Given the description of an element on the screen output the (x, y) to click on. 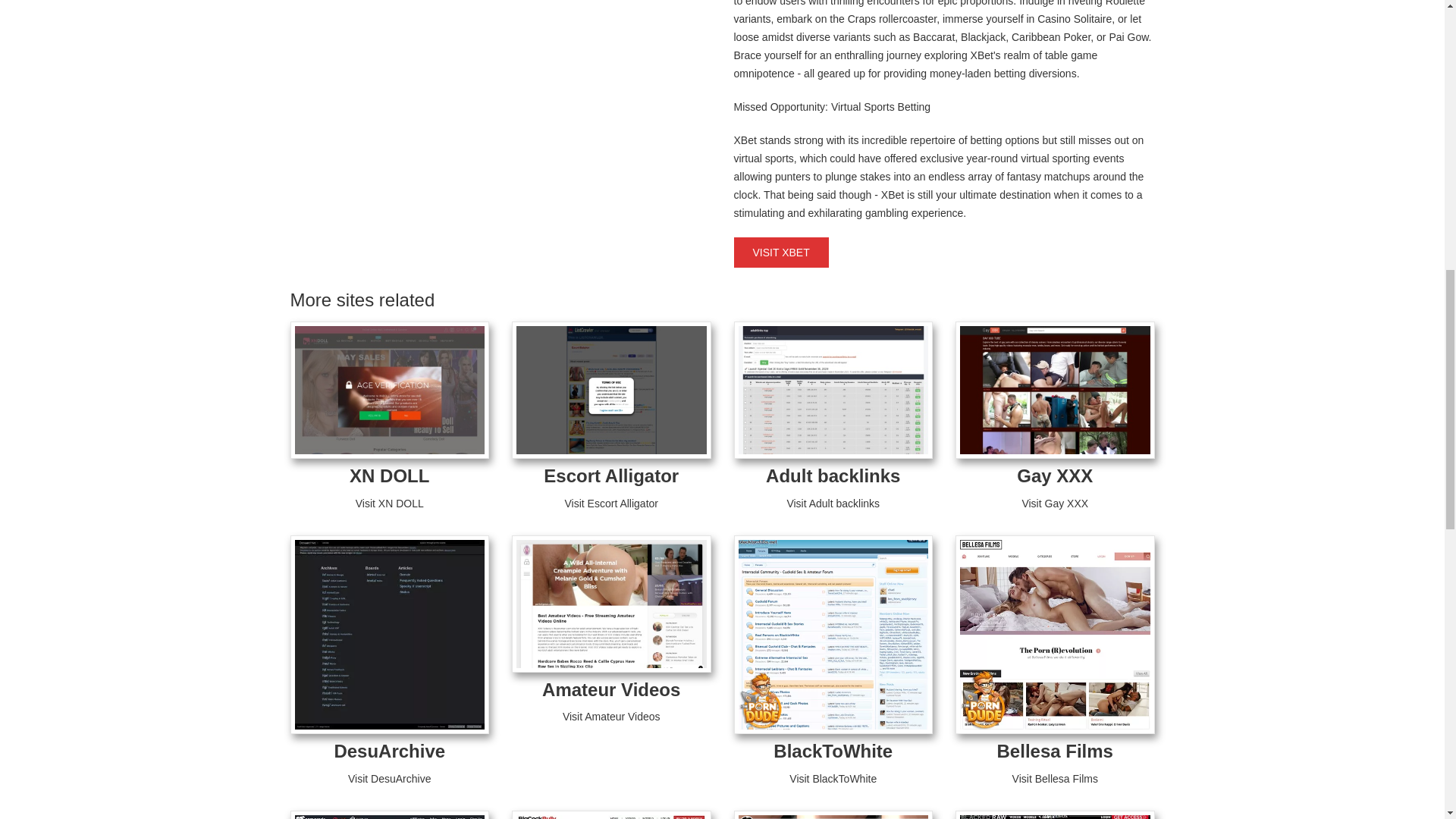
Visit Adult backlinks (832, 503)
Gay XXX (1054, 476)
Visit Amateur Videos (611, 716)
Visit XN DOLL (389, 503)
Adult backlinks (832, 476)
Visit Bellesa Films (1054, 777)
Escort Alligator (610, 476)
Visit Gay XXX (1054, 503)
Visit DesuArchive (388, 777)
BlackToWhite (832, 751)
